Given the description of an element on the screen output the (x, y) to click on. 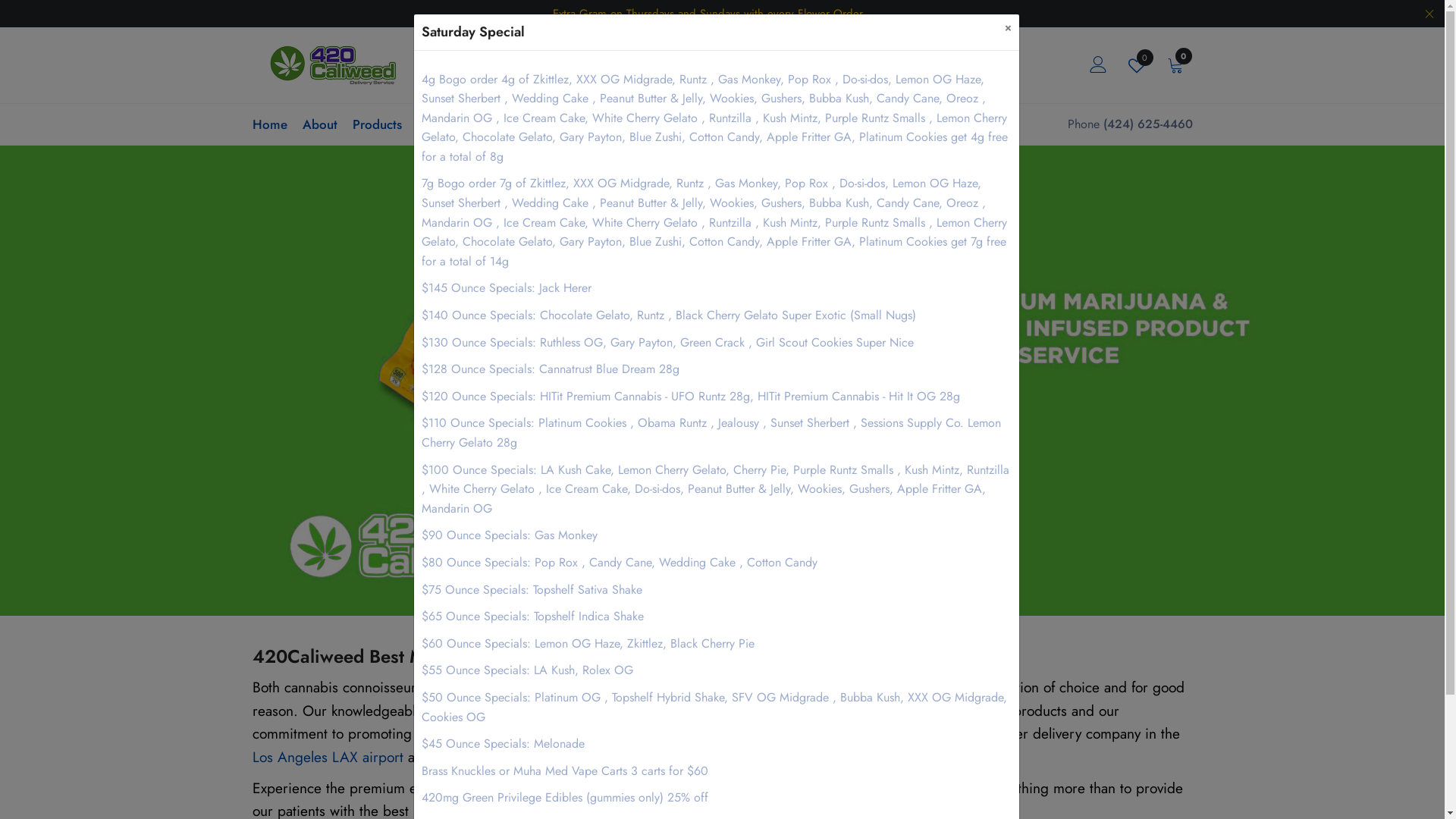
FAQ Element type: text (429, 123)
420caliweed Home Element type: hover (333, 63)
Home Element type: text (268, 123)
search products Element type: hover (894, 64)
submit Element type: text (1275, 98)
0 Element type: text (1136, 65)
Los Angeles LAX airport Element type: text (326, 756)
Contact Element type: text (552, 123)
About Element type: text (318, 123)
Products Element type: text (376, 123)
LAX airport Element type: text (802, 686)
0 Element type: text (1174, 64)
Wholesale Element type: text (485, 123)
login Element type: hover (1096, 64)
